Given the description of an element on the screen output the (x, y) to click on. 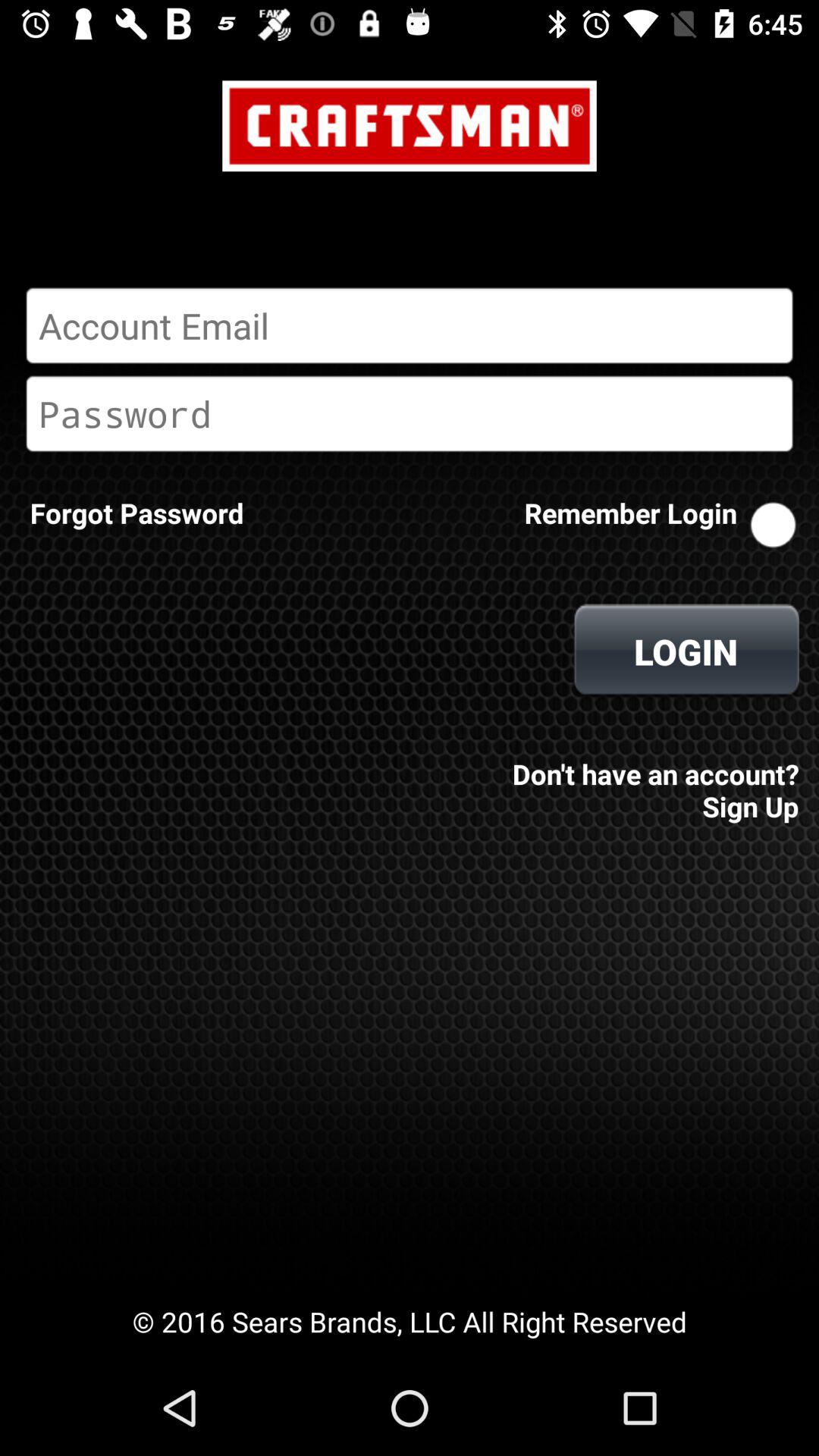
turn on don t have icon (651, 780)
